Given the description of an element on the screen output the (x, y) to click on. 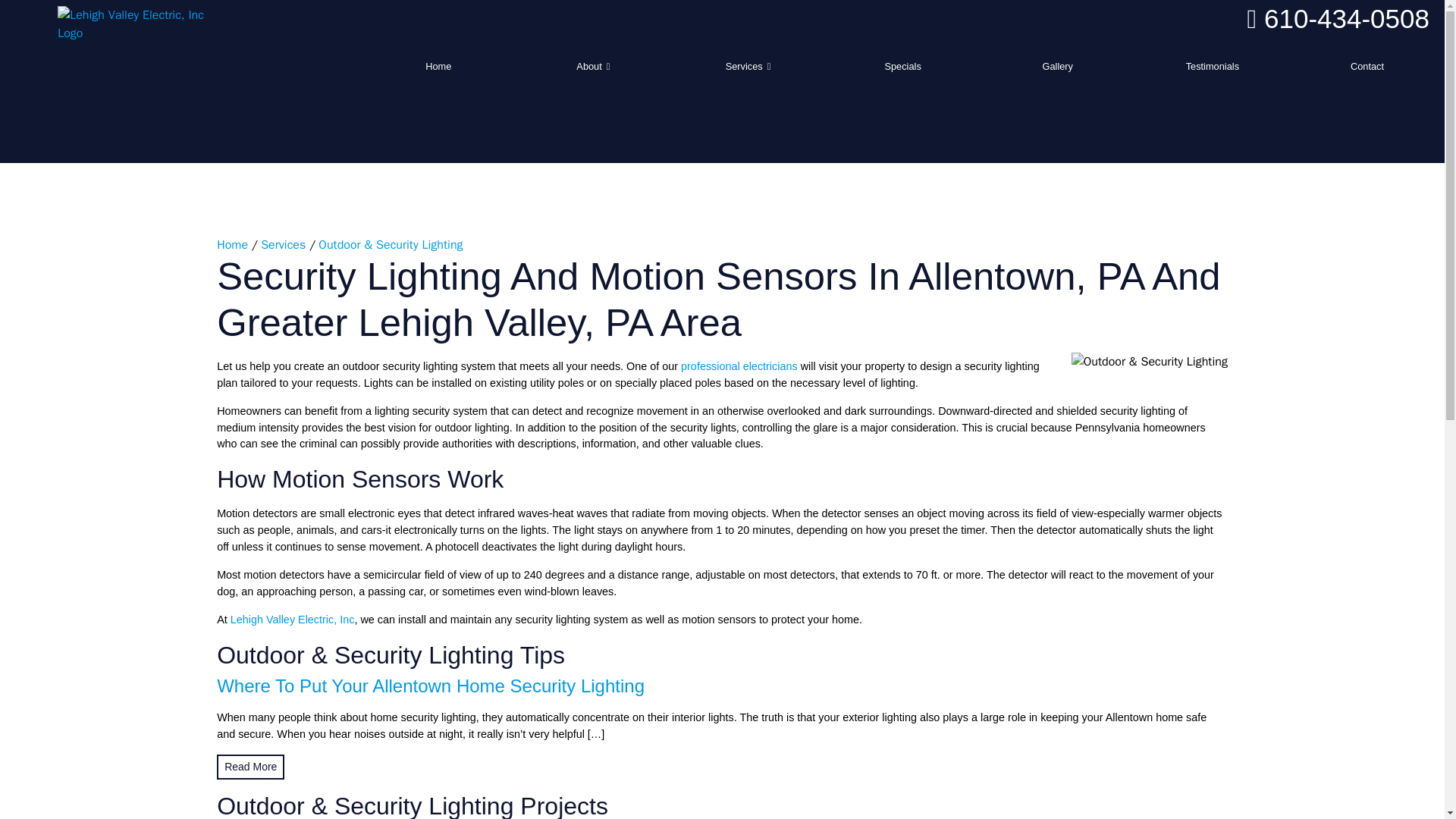
610-434-0508 (1337, 18)
Home (438, 65)
Home (231, 244)
Services (282, 244)
About (592, 65)
